Given the description of an element on the screen output the (x, y) to click on. 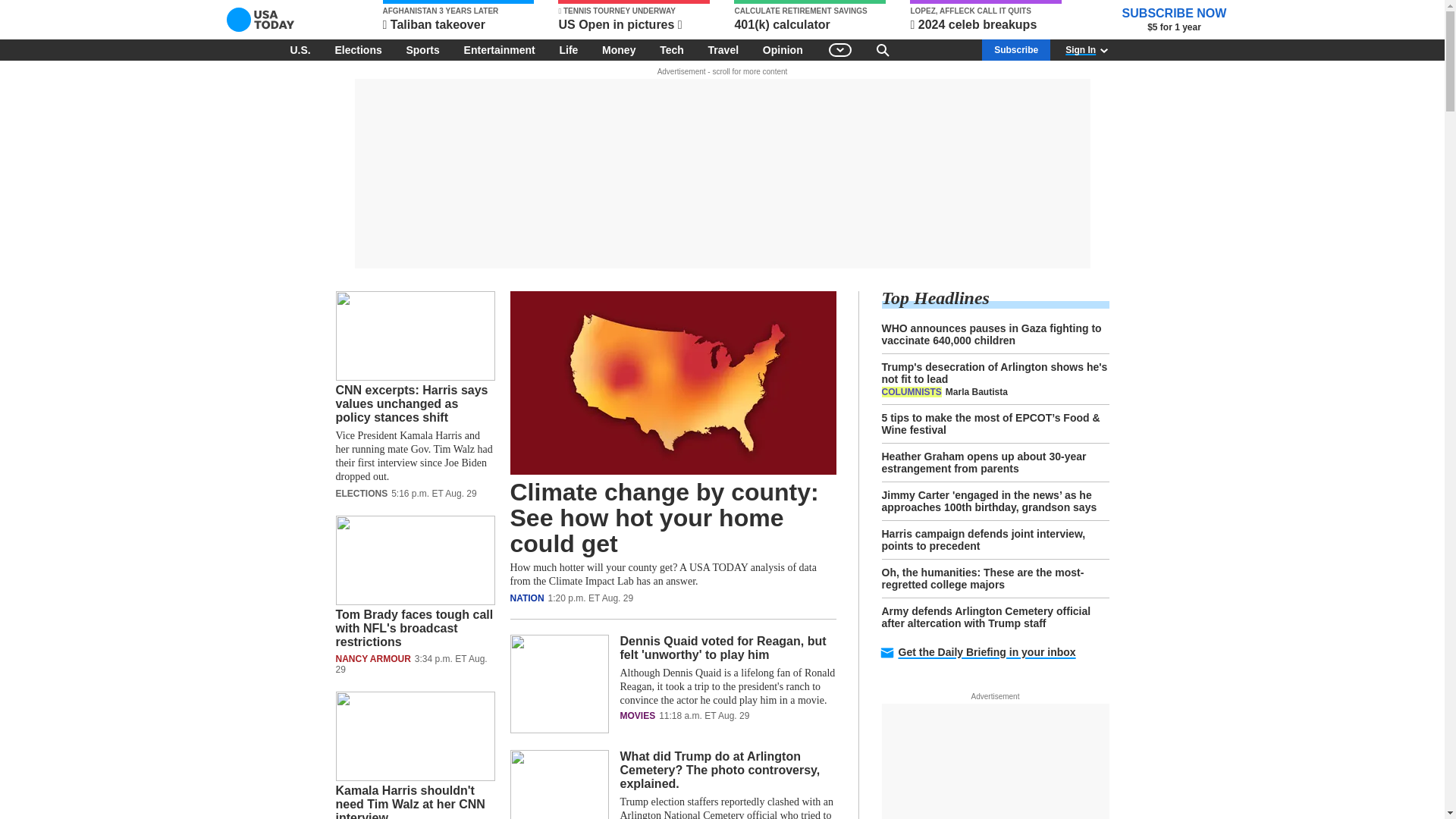
Sports (421, 49)
U.S. (299, 49)
Travel (722, 49)
Opinion (782, 49)
Elections (357, 49)
Tech (671, 49)
Money (618, 49)
Life (568, 49)
Entertainment (500, 49)
Search (882, 49)
